Given the description of an element on the screen output the (x, y) to click on. 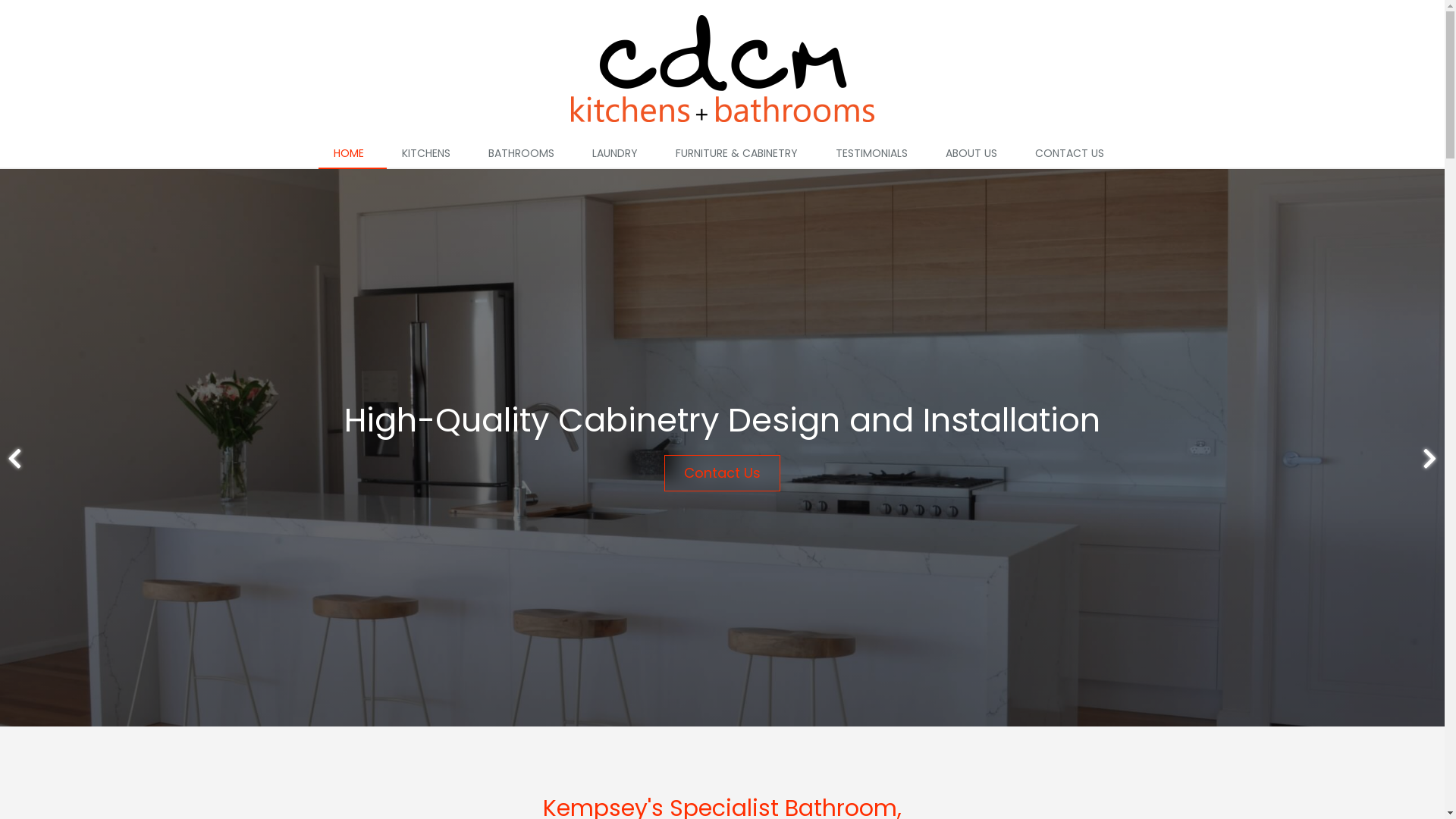
FURNITURE & CABINETRY Element type: text (739, 153)
HOME Element type: text (352, 153)
BATHROOMS Element type: text (525, 153)
KITCHENS Element type: text (429, 153)
LAUNDRY Element type: text (617, 153)
Contact Us Element type: text (722, 473)
CONTACT US Element type: text (1072, 153)
ABOUT US Element type: text (974, 153)
TESTIMONIALS Element type: text (875, 153)
